Given the description of an element on the screen output the (x, y) to click on. 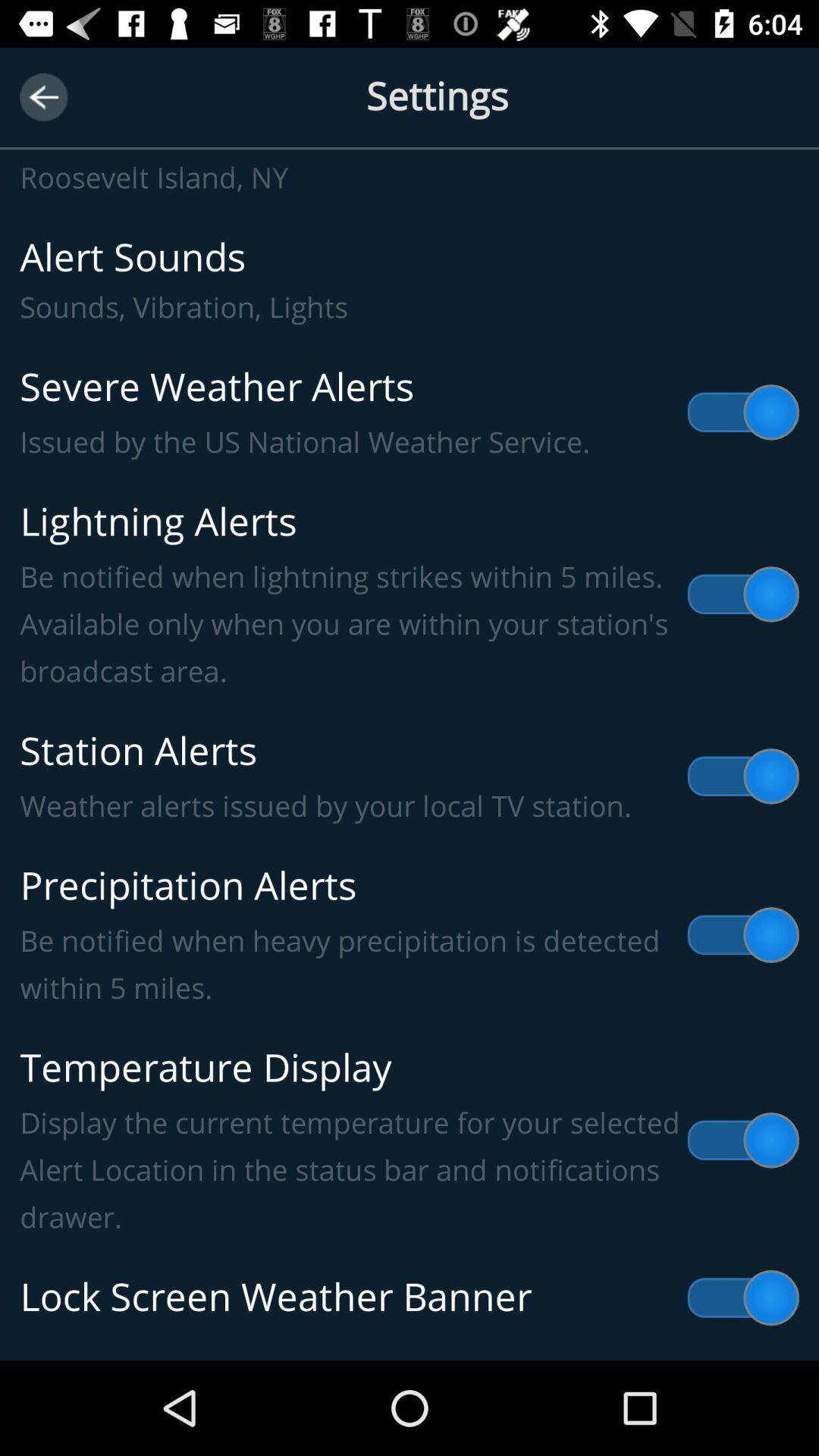
press icon below the temperature display display icon (409, 1297)
